Given the description of an element on the screen output the (x, y) to click on. 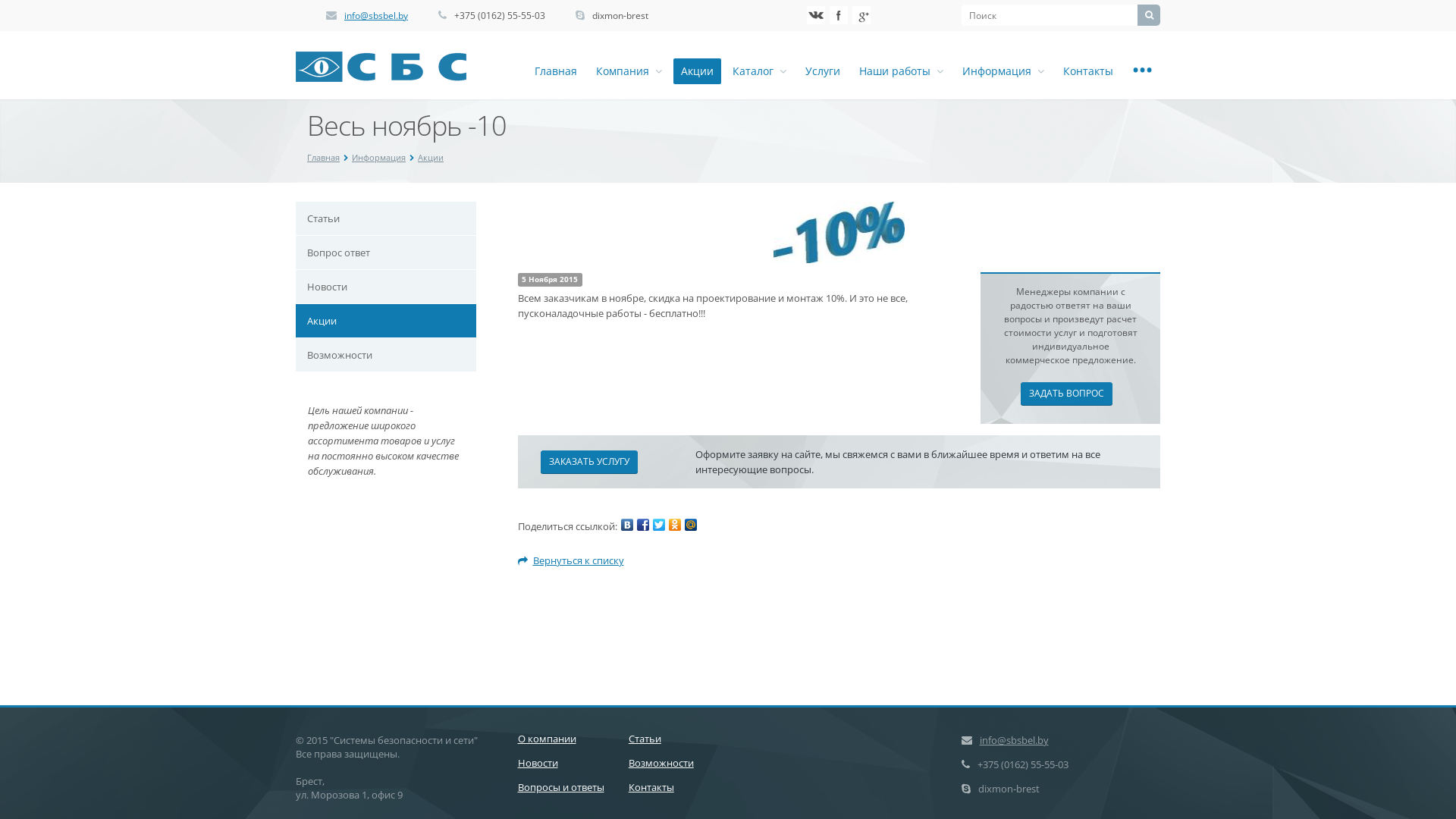
info@sbsbel.by Element type: text (375, 15)
info@sbsbel.by Element type: text (1013, 739)
... Element type: text (1142, 70)
Facebook Element type: text (838, 15)
Google+ Element type: text (861, 15)
Facebook Element type: hover (643, 524)
Twitter Element type: hover (658, 524)
